Given the description of an element on the screen output the (x, y) to click on. 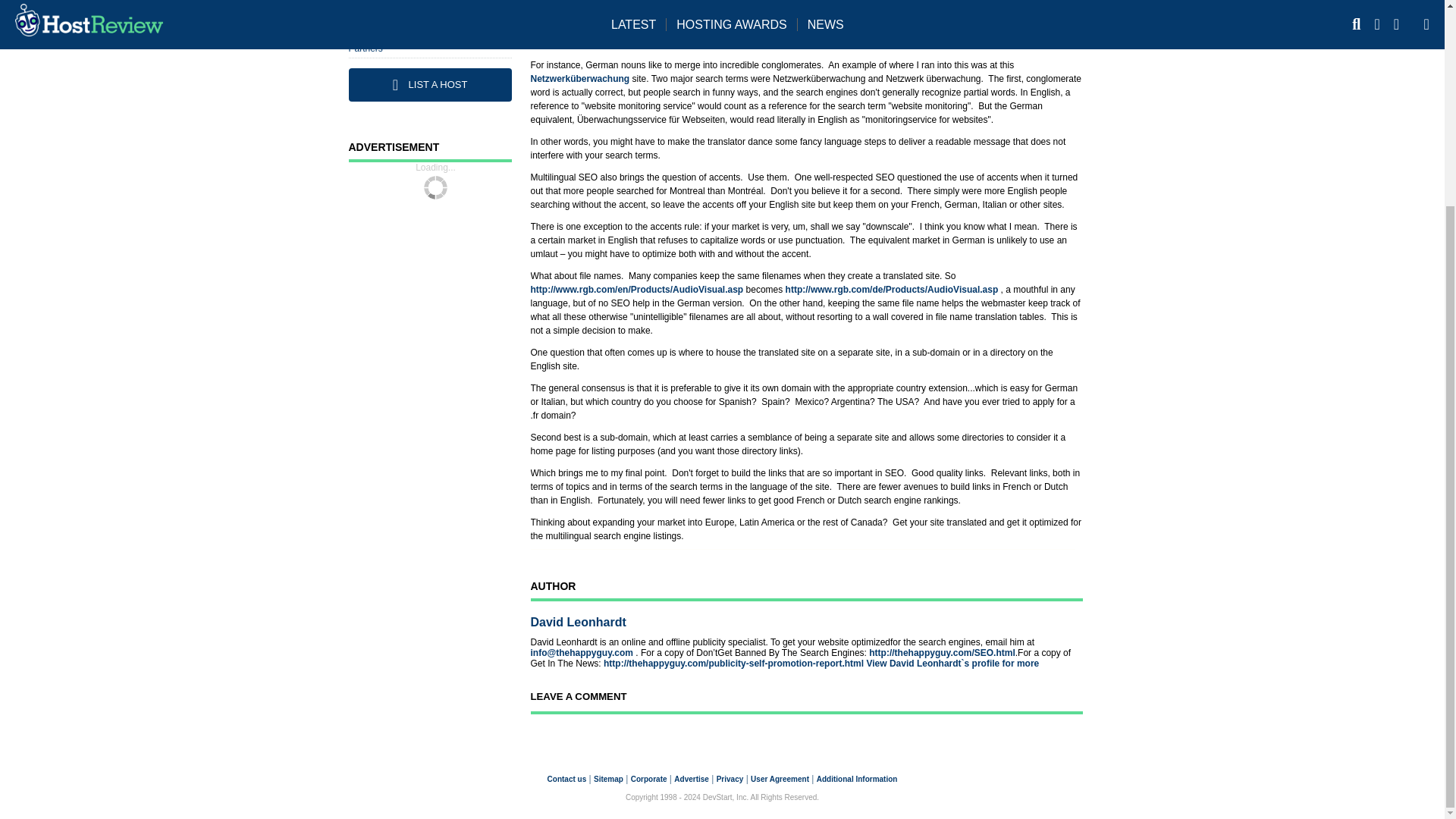
Submit Content (380, 29)
Partners (365, 48)
Corporate (648, 778)
David Leonhardt (578, 623)
Community (371, 9)
Partners (365, 48)
Contact us (566, 778)
Community (371, 9)
LIST A HOST (430, 84)
Submit Content (380, 29)
